Given the description of an element on the screen output the (x, y) to click on. 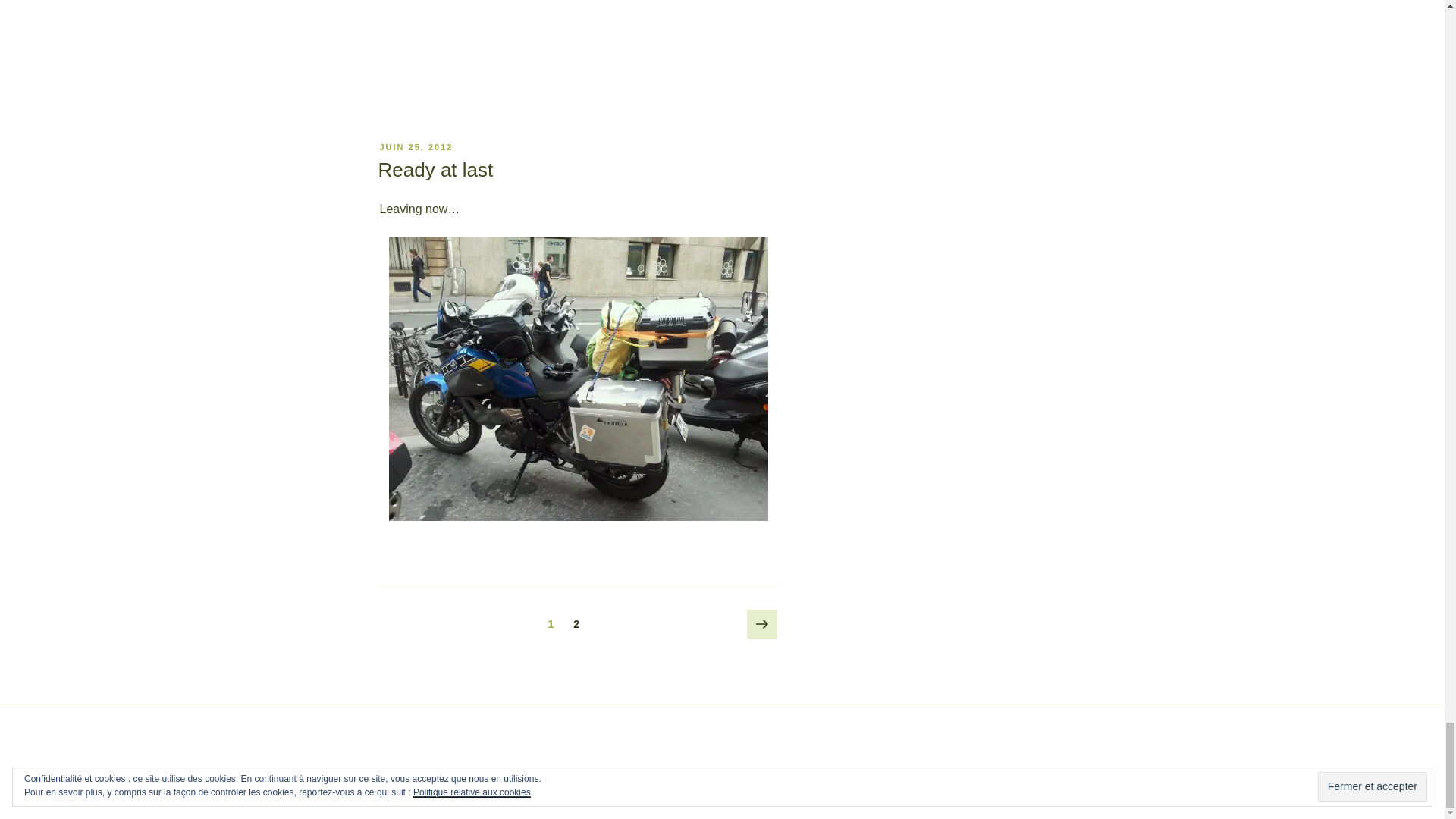
1340628995846.jpg (578, 378)
1789 (577, 37)
